Given the description of an element on the screen output the (x, y) to click on. 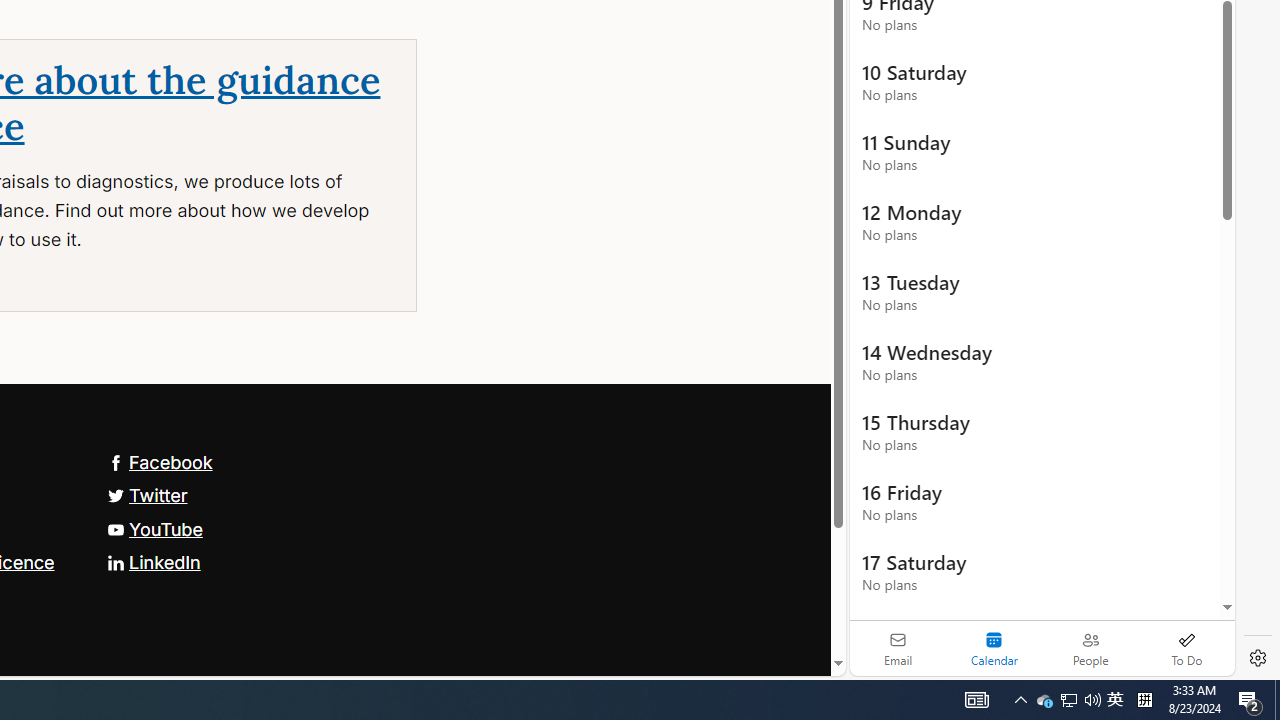
Selected calendar module. Date today is 22 (994, 648)
